Given the description of an element on the screen output the (x, y) to click on. 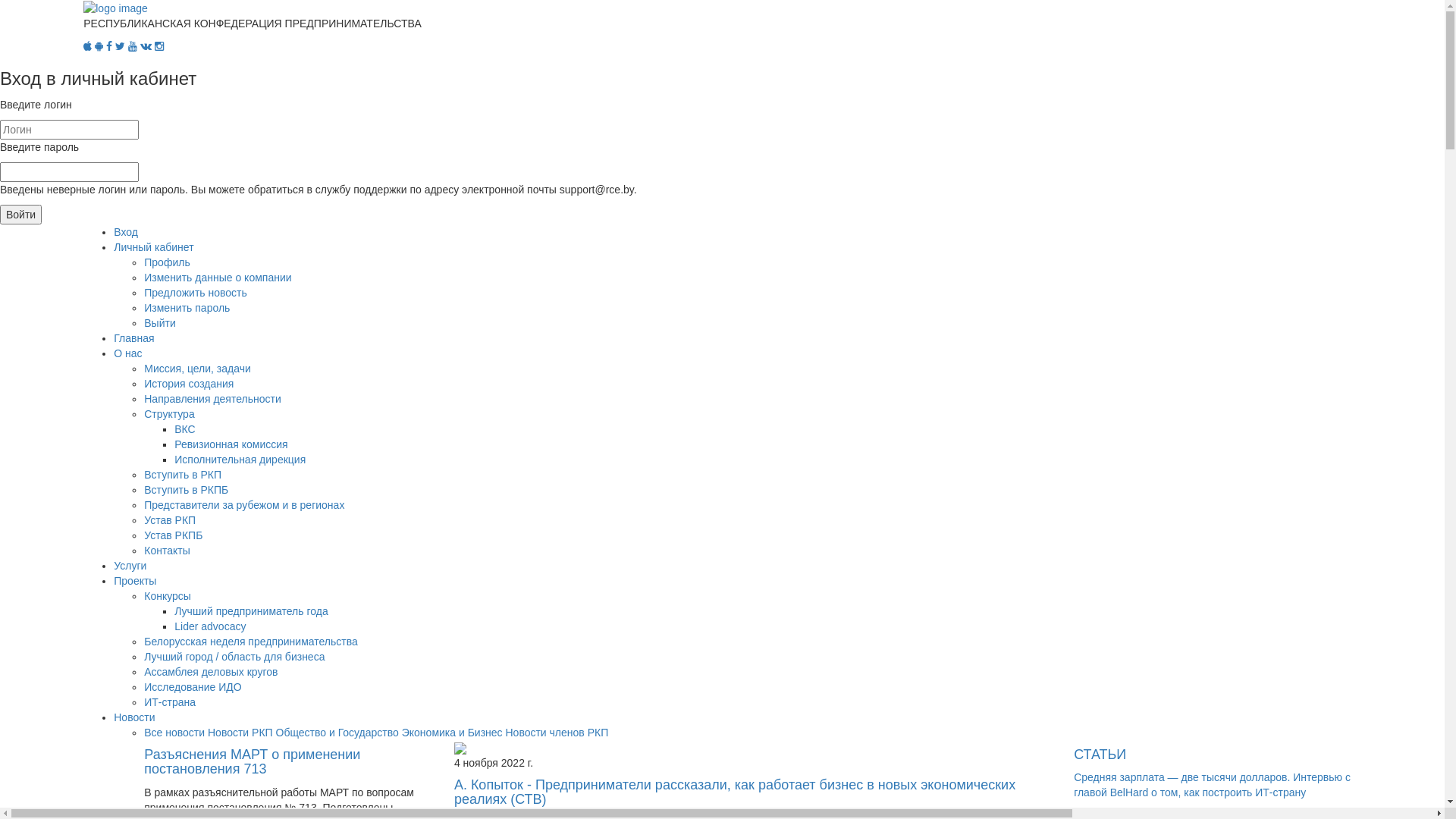
Lider advocacy Element type: text (209, 626)
